Given the description of an element on the screen output the (x, y) to click on. 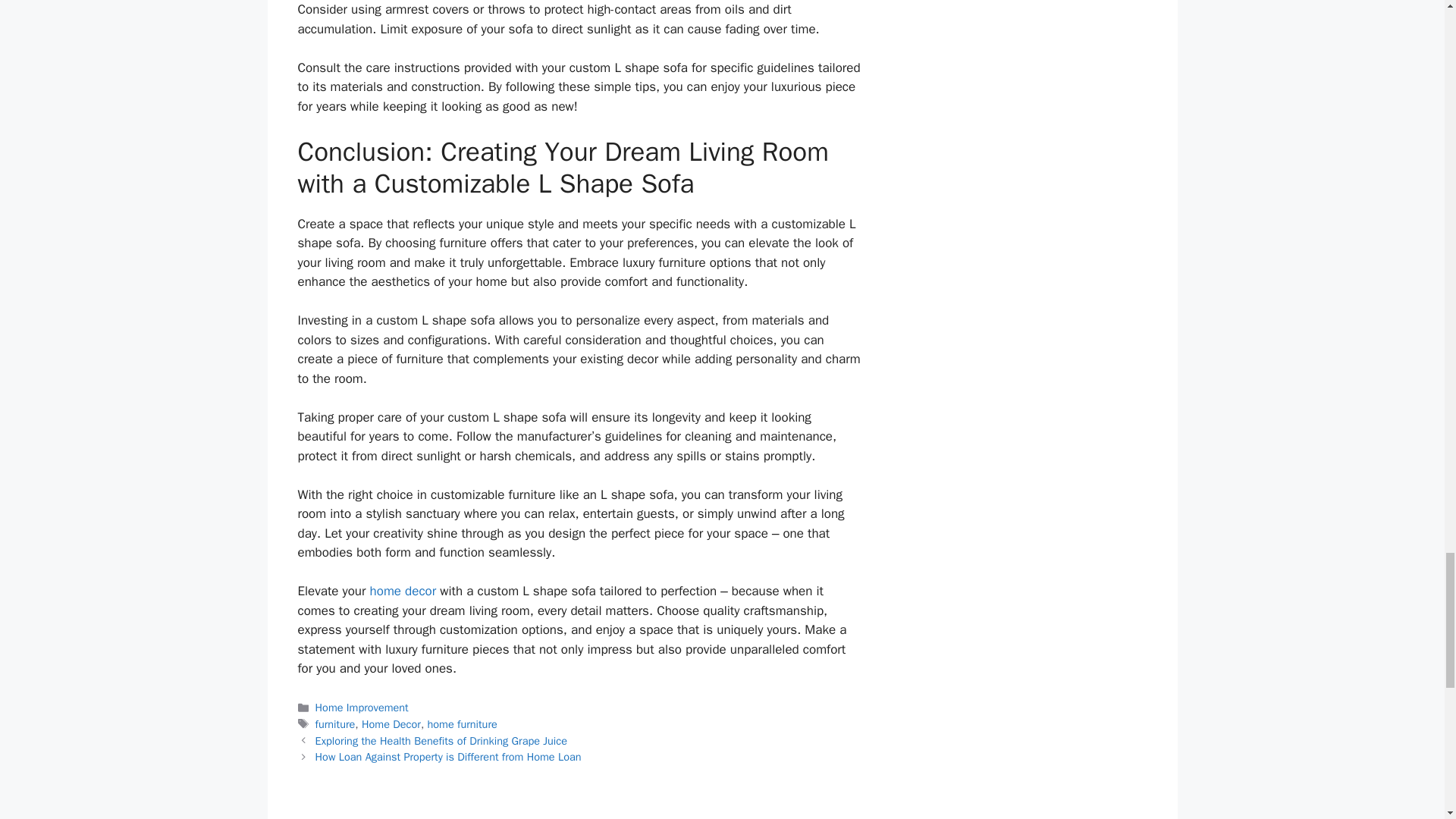
home furniture (462, 724)
furniture (335, 724)
Home Decor (390, 724)
Home Improvement (362, 707)
Exploring the Health Benefits of Drinking Grape Juice (441, 740)
How Loan Against Property is Different from Home Loan  (450, 756)
home decor (402, 590)
